Given the description of an element on the screen output the (x, y) to click on. 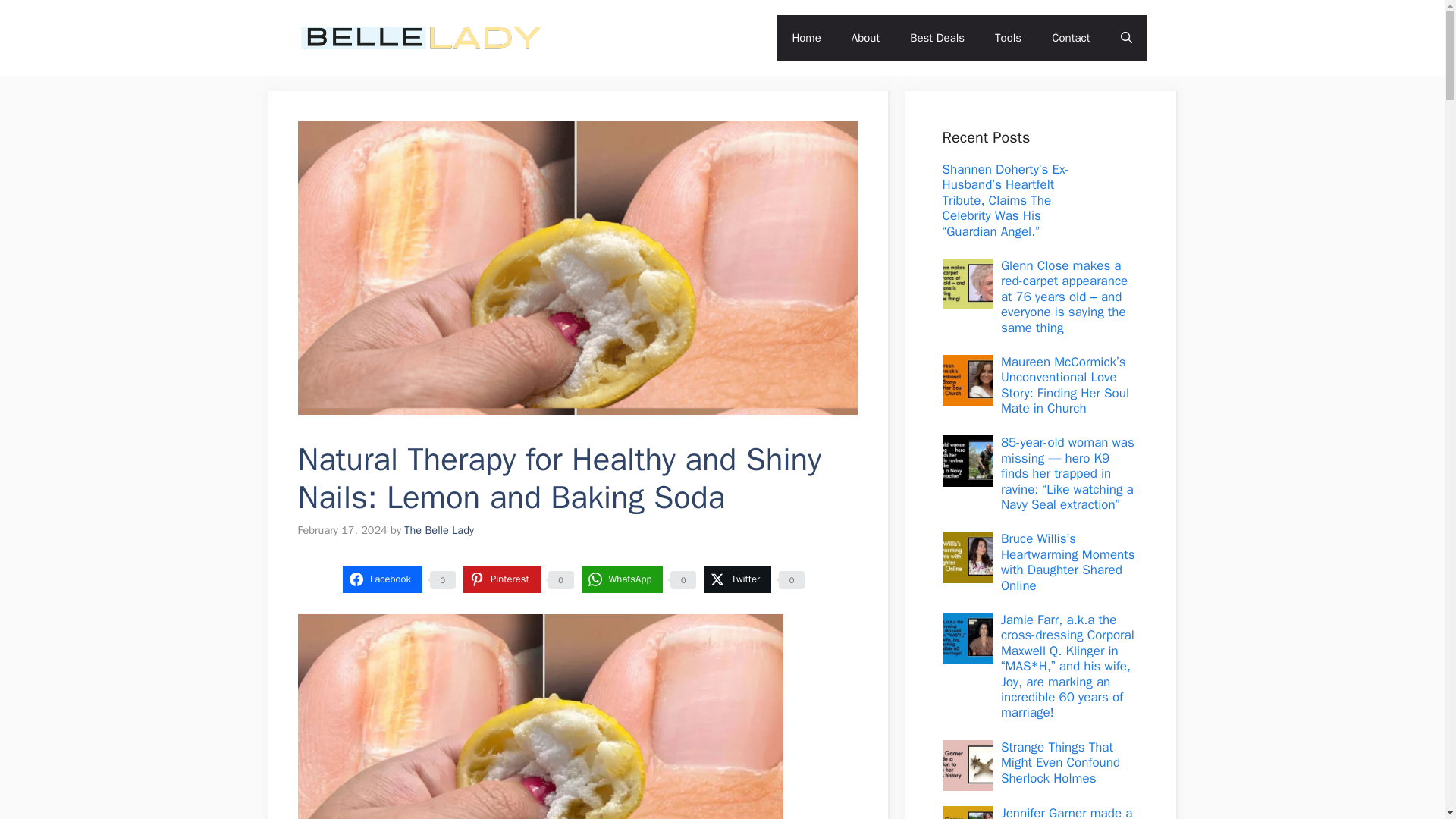
About (865, 37)
The Belle Lady (624, 37)
WhatsApp (621, 578)
View all posts by The Belle Lady (439, 530)
The Belle Lady (439, 530)
Twitter (737, 578)
Best Deals (937, 37)
Share on Facebook (382, 578)
Facebook (382, 578)
Pinterest (501, 578)
Strange Things That Might Even Confound Sherlock Holmes (1060, 762)
Share on Twitter (737, 578)
Contact (1070, 37)
Share on WhatsApp (621, 578)
Home (805, 37)
